Given the description of an element on the screen output the (x, y) to click on. 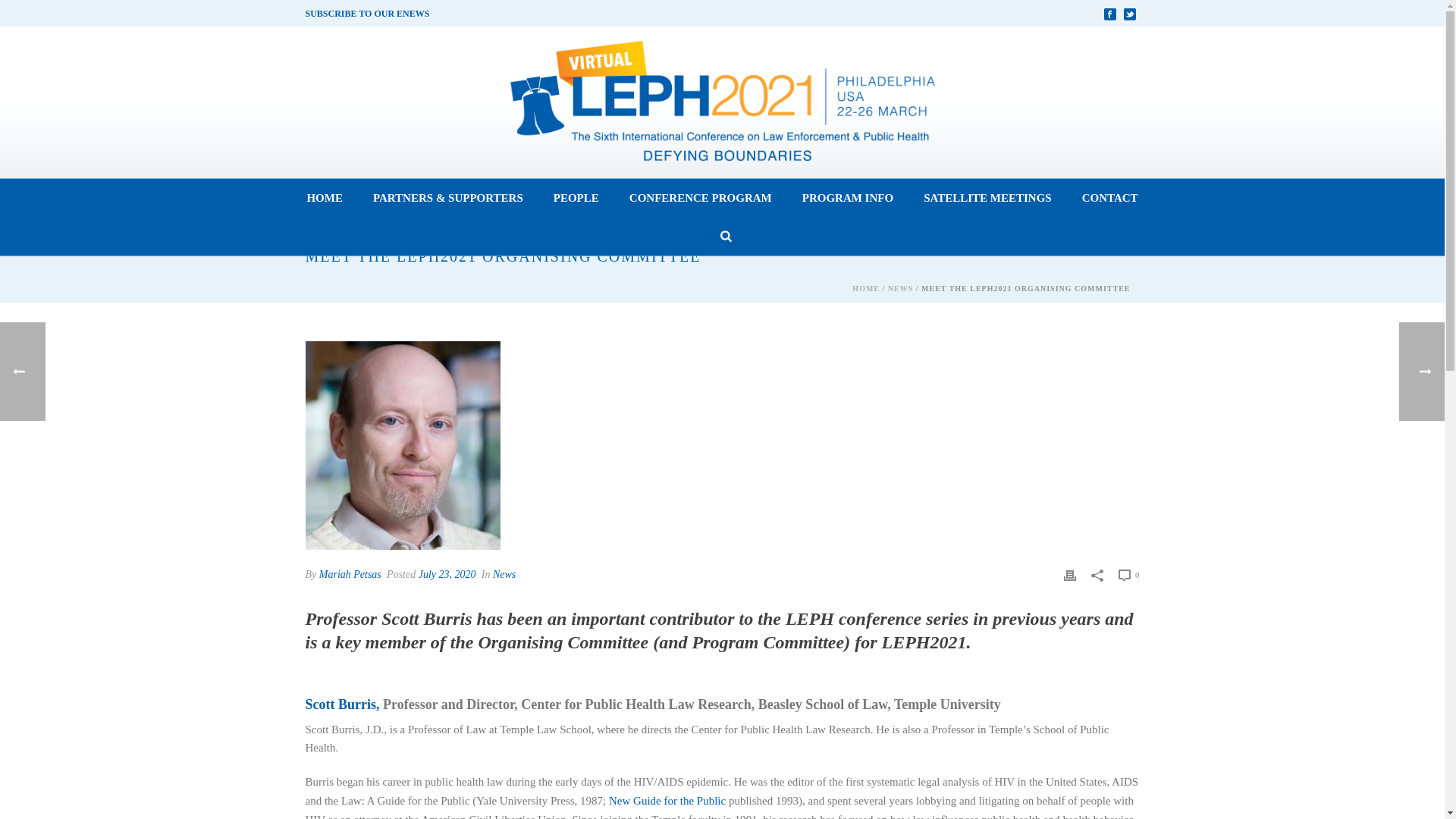
PEOPLE (576, 198)
HOME (324, 198)
SUBSCRIBE TO OUR ENEWS (366, 13)
CONTACT (1110, 198)
PROGRAM INFO (847, 198)
Posts by Mariah Petsas (349, 573)
CONFERENCE PROGRAM (700, 198)
Meet the LEPH2021 Organising Committee (401, 445)
PEOPLE (576, 198)
SATELLITE MEETINGS (987, 198)
SATELLITE MEETINGS (987, 198)
PROGRAM INFO (847, 198)
CONTACT (1110, 198)
